Given the description of an element on the screen output the (x, y) to click on. 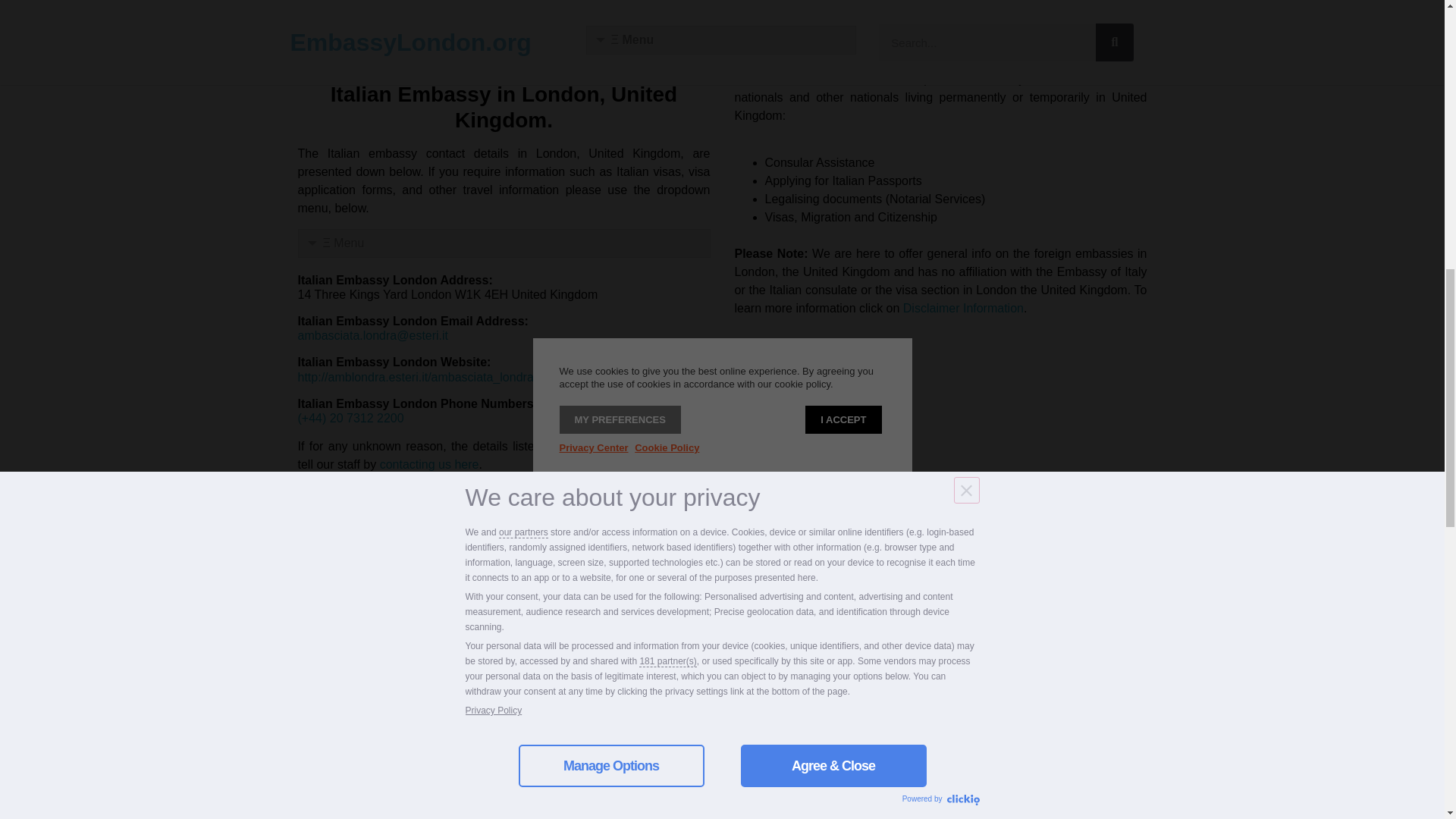
contacting us here (429, 463)
Disclaimer Information (962, 308)
